Given the description of an element on the screen output the (x, y) to click on. 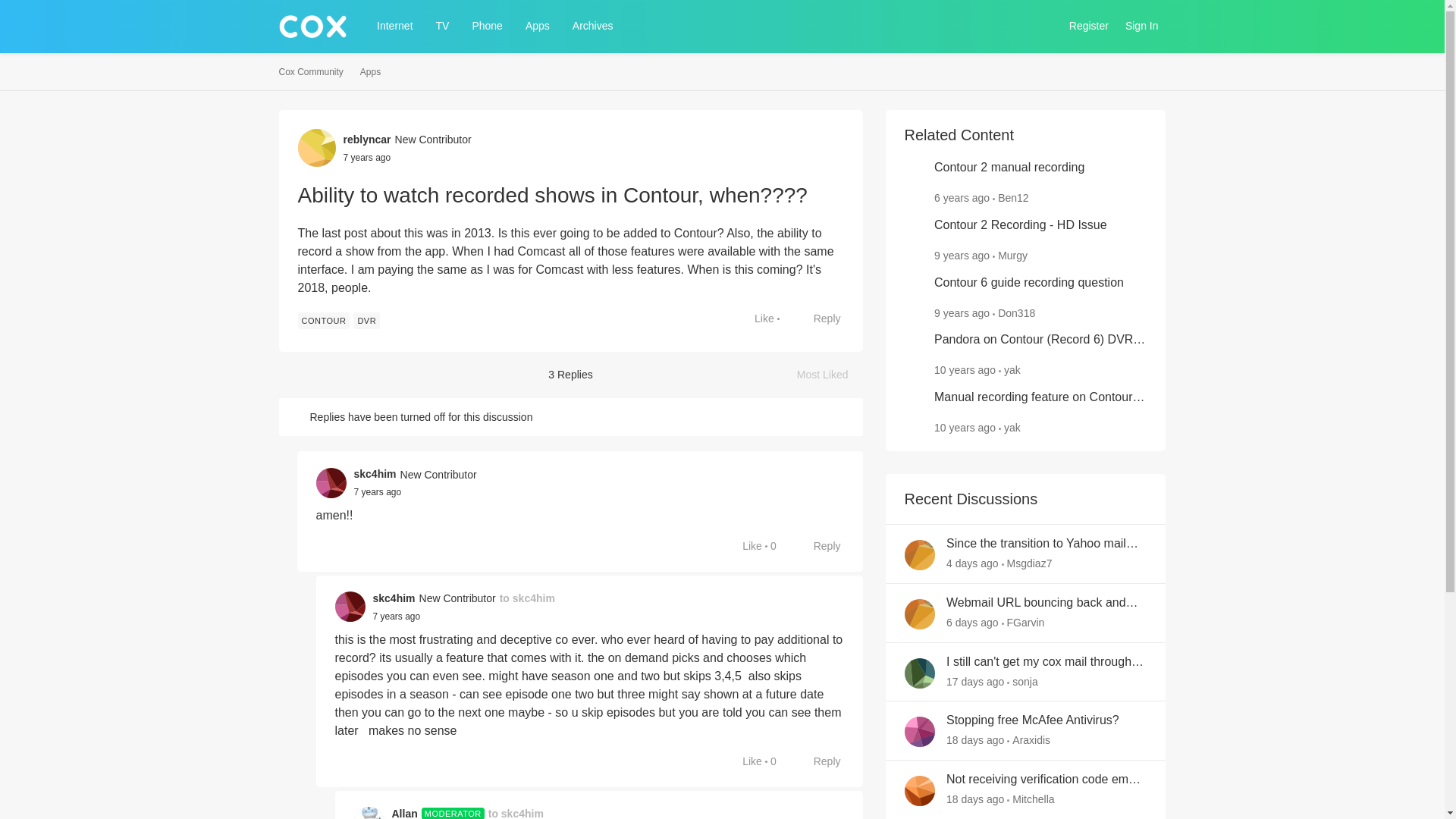
December 5, 2014 at 5:23 PM (964, 369)
Cox Community (311, 71)
Apps (369, 71)
April 19, 2016 at 1:03 PM (962, 312)
DVR (366, 320)
TV (442, 26)
Webmail URL bouncing back and forth (1046, 602)
July 19, 2018 at 12:20 PM (377, 491)
Apps (537, 26)
Reply (819, 318)
Sign In (1142, 26)
July 19, 2018 at 12:26 PM (396, 615)
Contour 2 Recording - HD Issue (1020, 225)
Manual recording feature on Contour Record 6 is balky. (1040, 397)
